Given the description of an element on the screen output the (x, y) to click on. 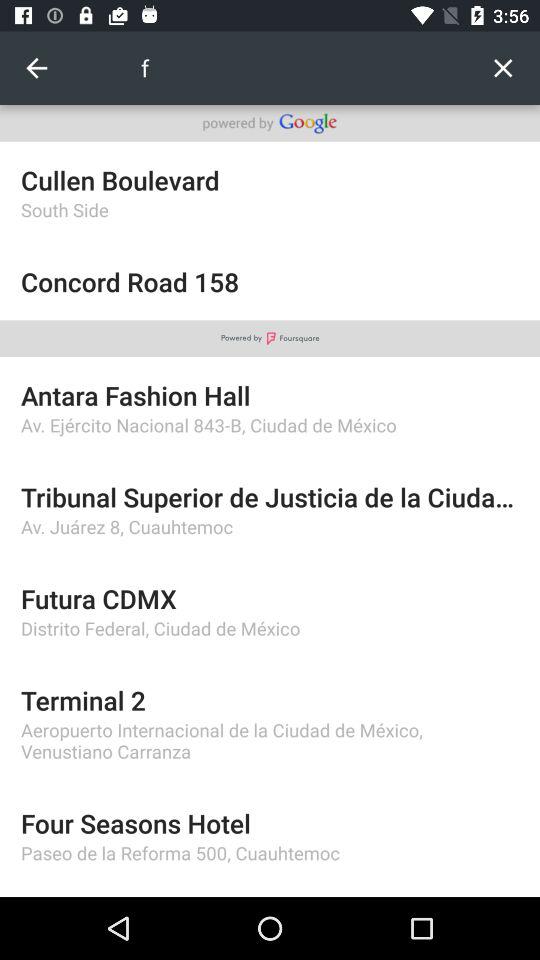
tap the icon above the paseo de la icon (270, 822)
